Given the description of an element on the screen output the (x, y) to click on. 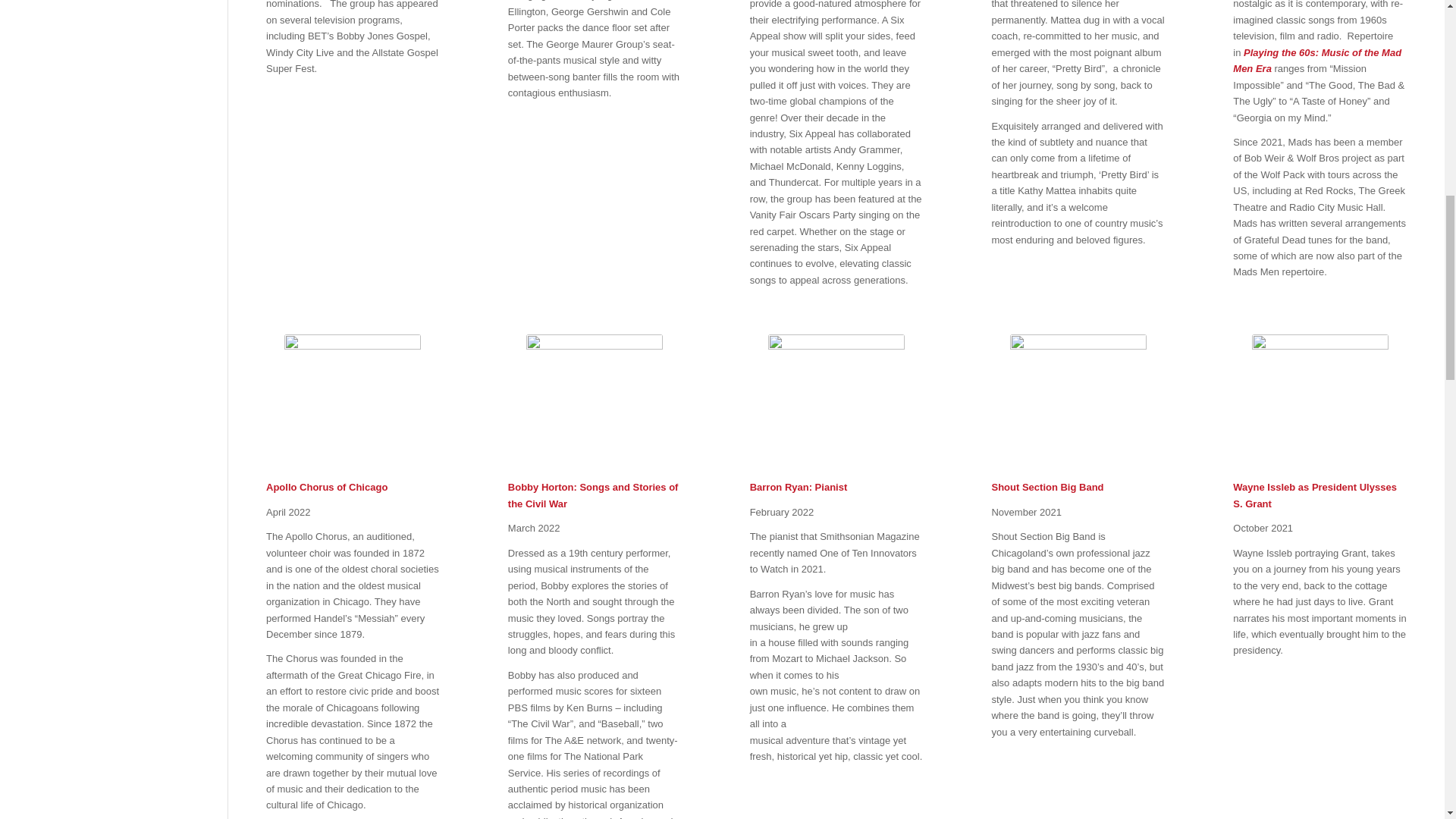
Past-Outreach-Efforts-img02 (351, 402)
3-6c6f6a04e63d518af6d2f0c343be5e60 (593, 402)
shoutsection42 (1078, 402)
